Given the description of an element on the screen output the (x, y) to click on. 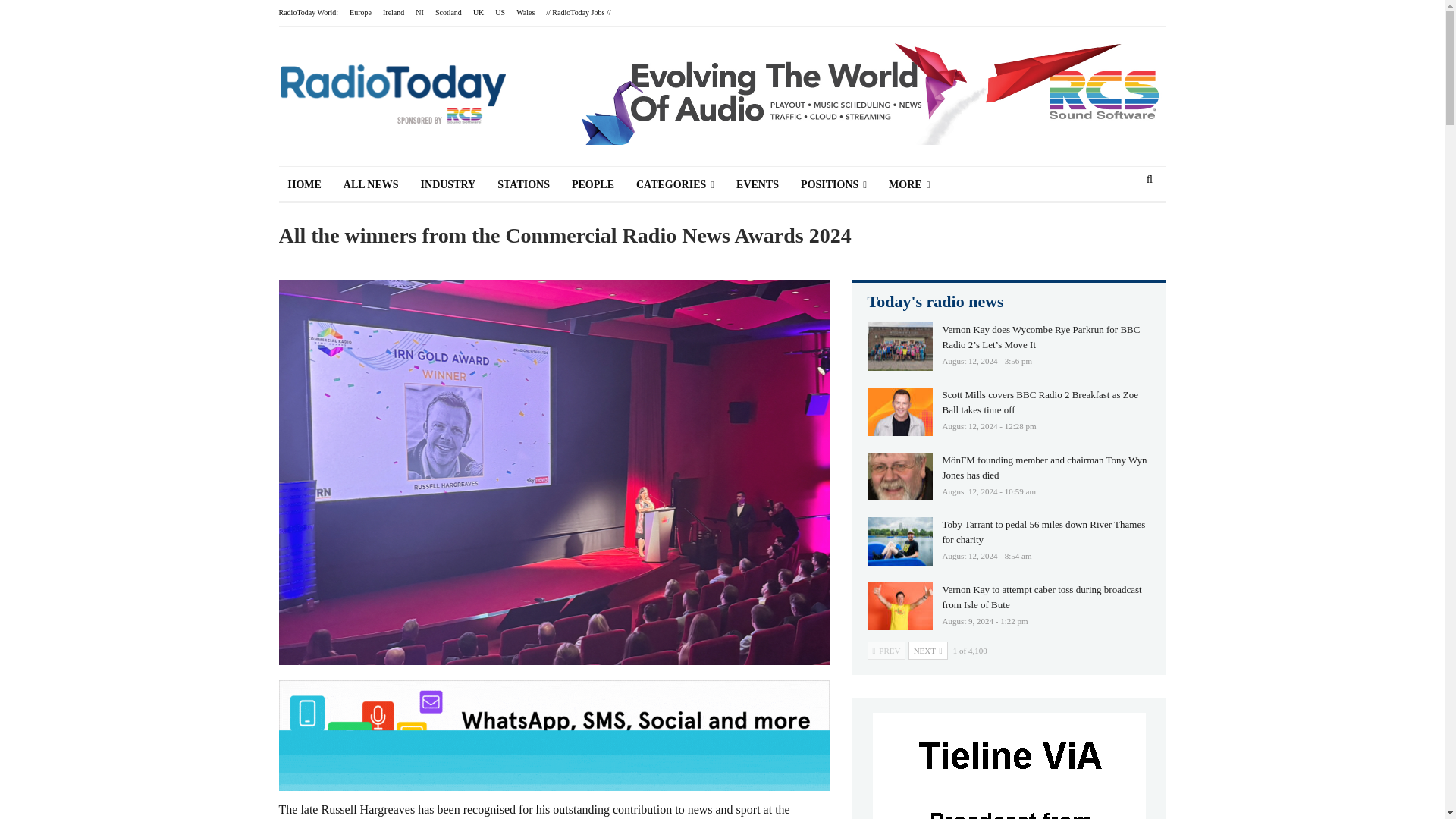
Europe (360, 12)
Scotland (448, 12)
CATEGORIES (675, 185)
Ireland (393, 12)
INDUSTRY (448, 185)
US (500, 12)
ALL NEWS (370, 185)
Wales (525, 12)
NI (418, 12)
UK (478, 12)
